Given the description of an element on the screen output the (x, y) to click on. 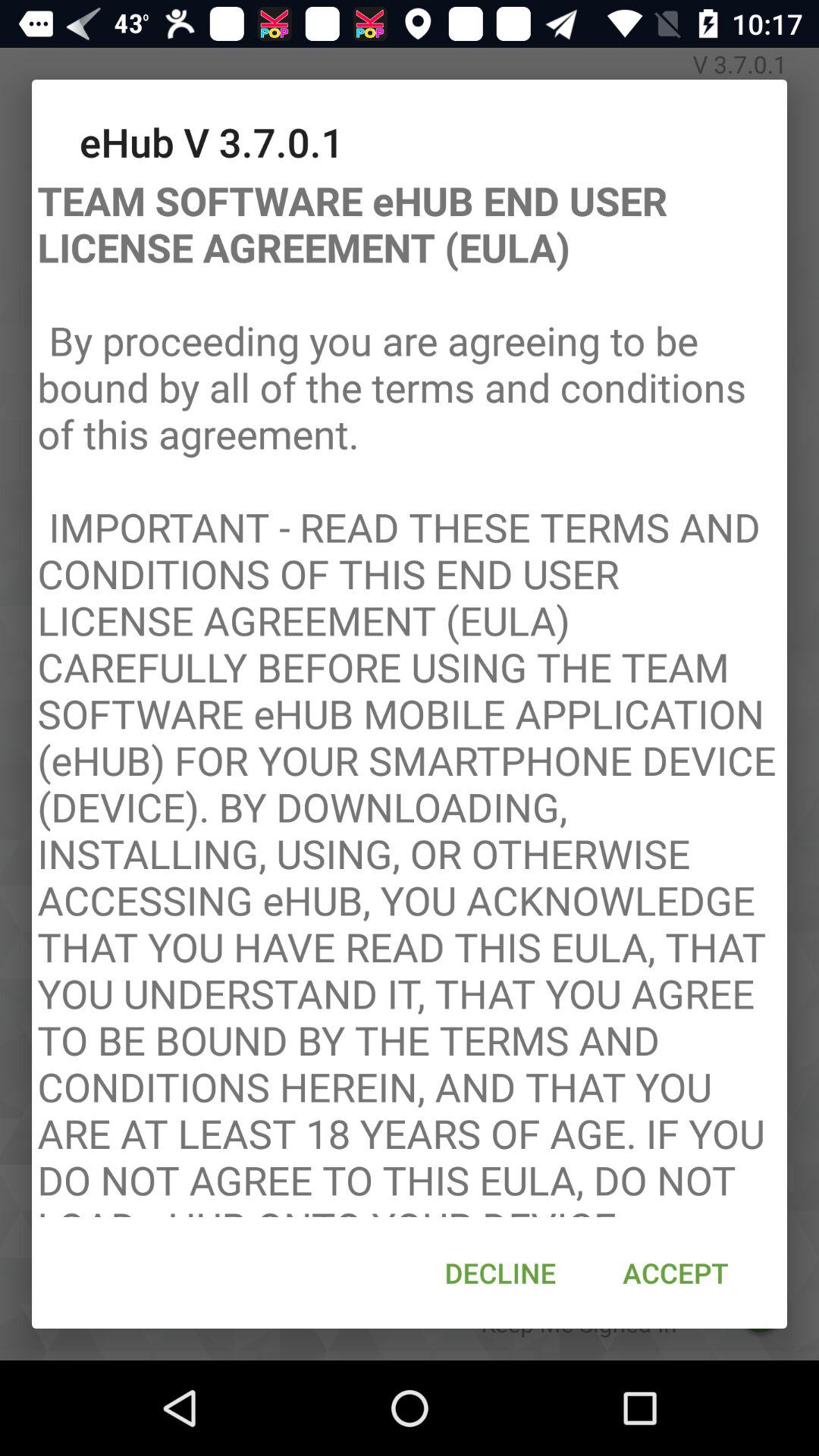
press item to the right of the decline (675, 1272)
